Given the description of an element on the screen output the (x, y) to click on. 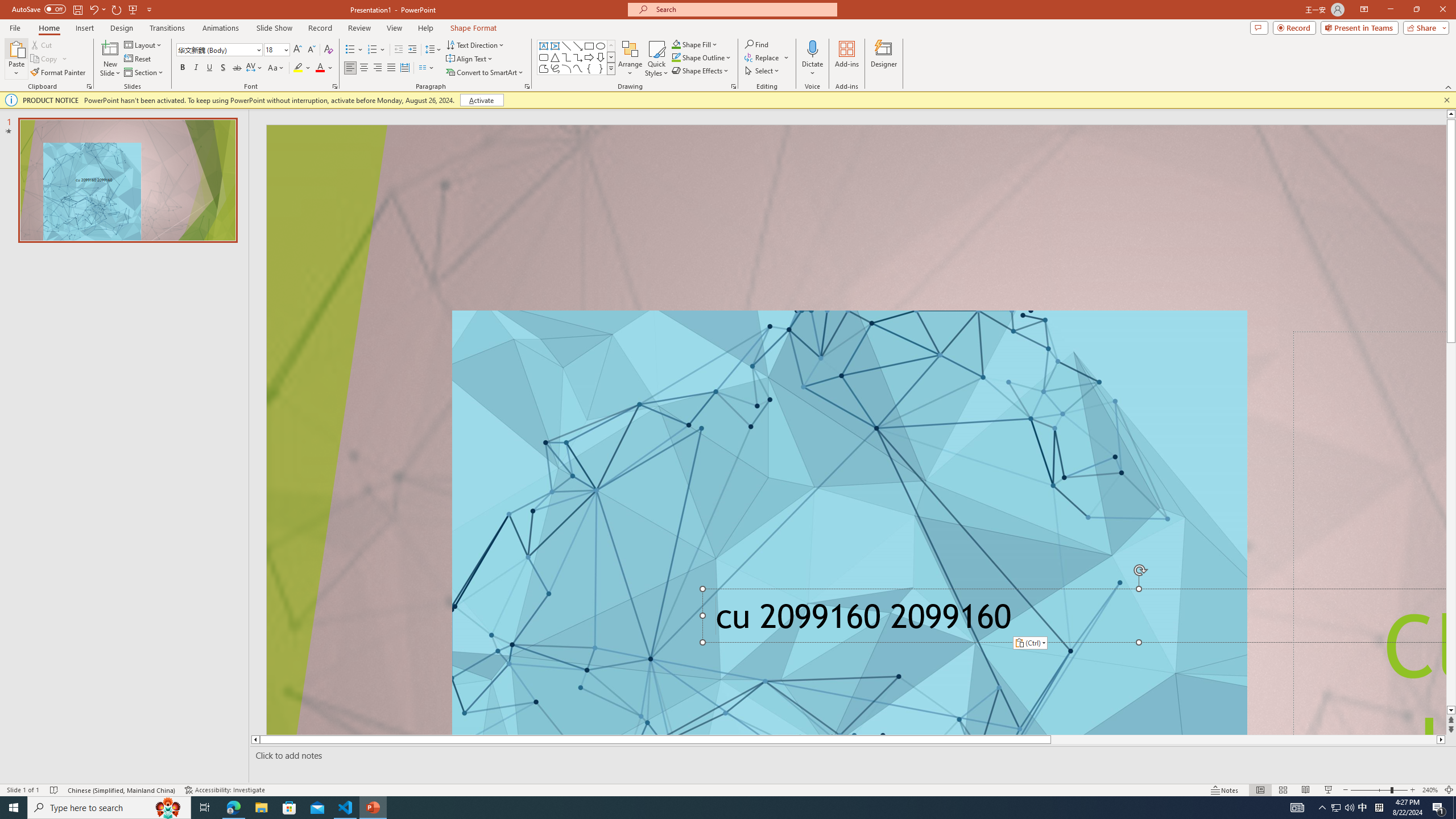
Activate (481, 100)
